Given the description of an element on the screen output the (x, y) to click on. 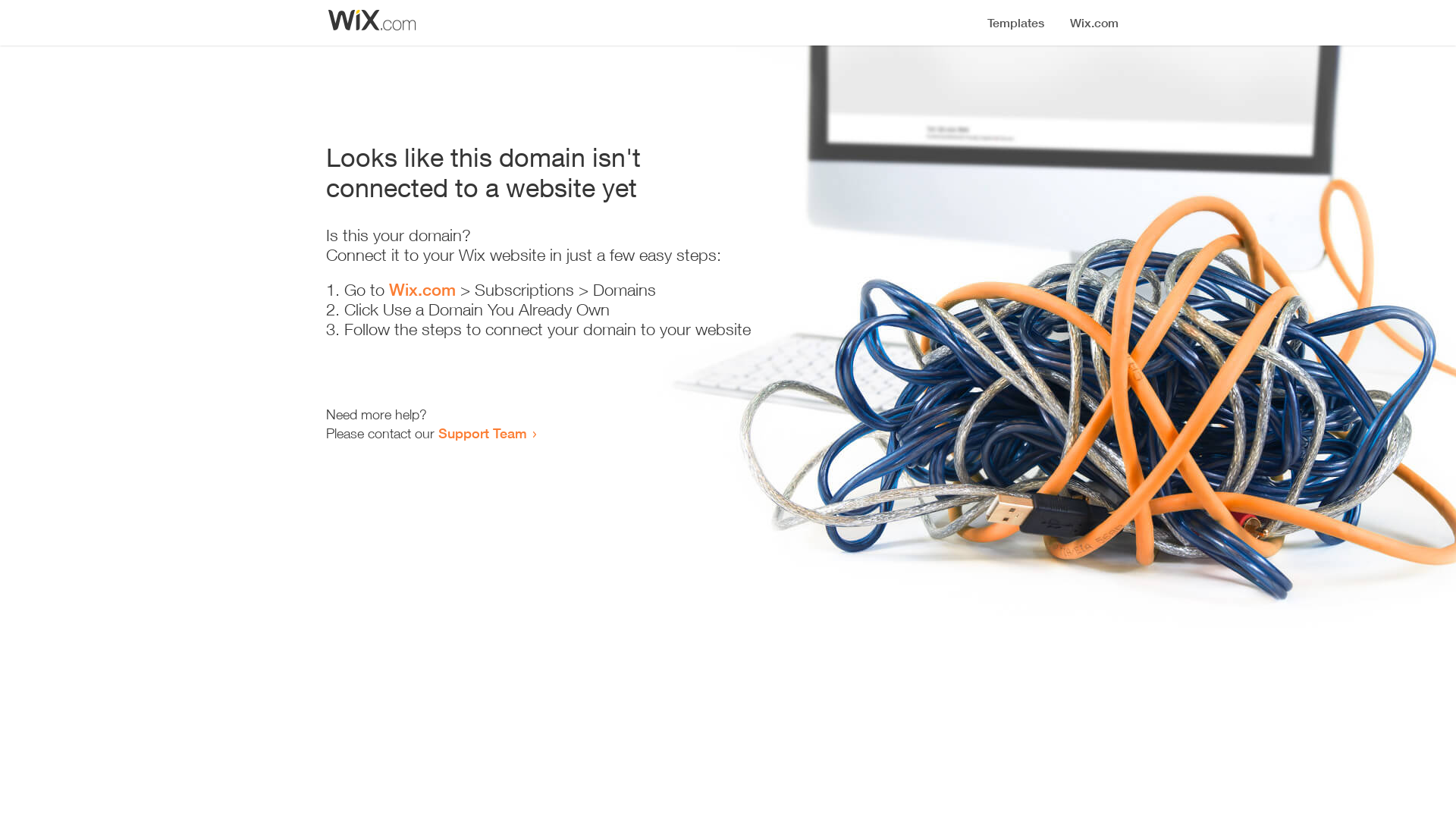
Wix.com Element type: text (422, 289)
Support Team Element type: text (482, 432)
